Given the description of an element on the screen output the (x, y) to click on. 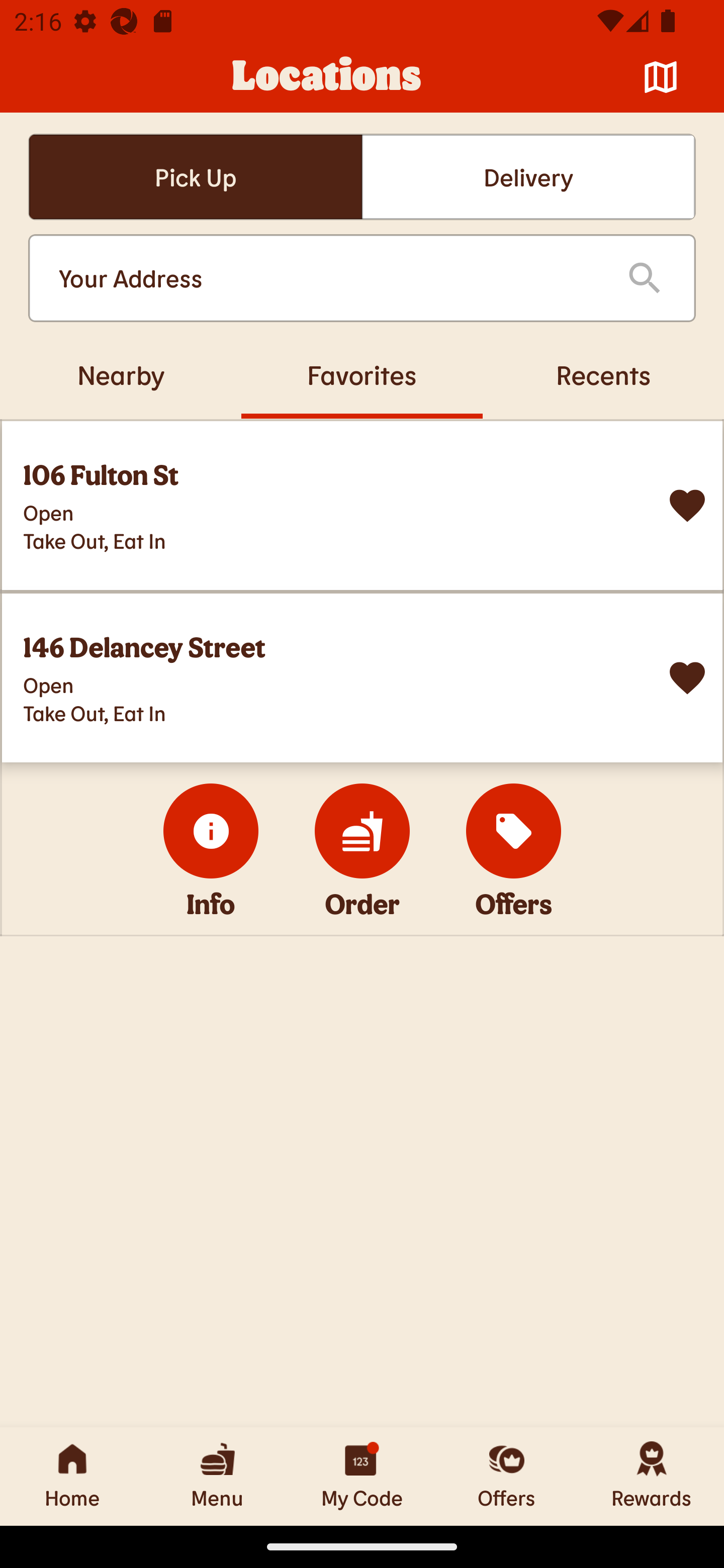
Map 󰦂 (660, 77)
Locations (326, 77)
Pick UpSelected Pick UpSelected Pick Up (195, 176)
Delivery Delivery Delivery (528, 176)
Your Address (327, 277)
Nearby (120, 374)
Favorites (361, 374)
Recents (603, 374)
Remove from Favorites?  (687, 505)
Remove from Favorites?  (687, 677)
Info  (210, 831)
Order (361, 831)
Offers  (513, 831)
Home (72, 1475)
Menu (216, 1475)
My Code (361, 1475)
Offers (506, 1475)
Rewards (651, 1475)
